Given the description of an element on the screen output the (x, y) to click on. 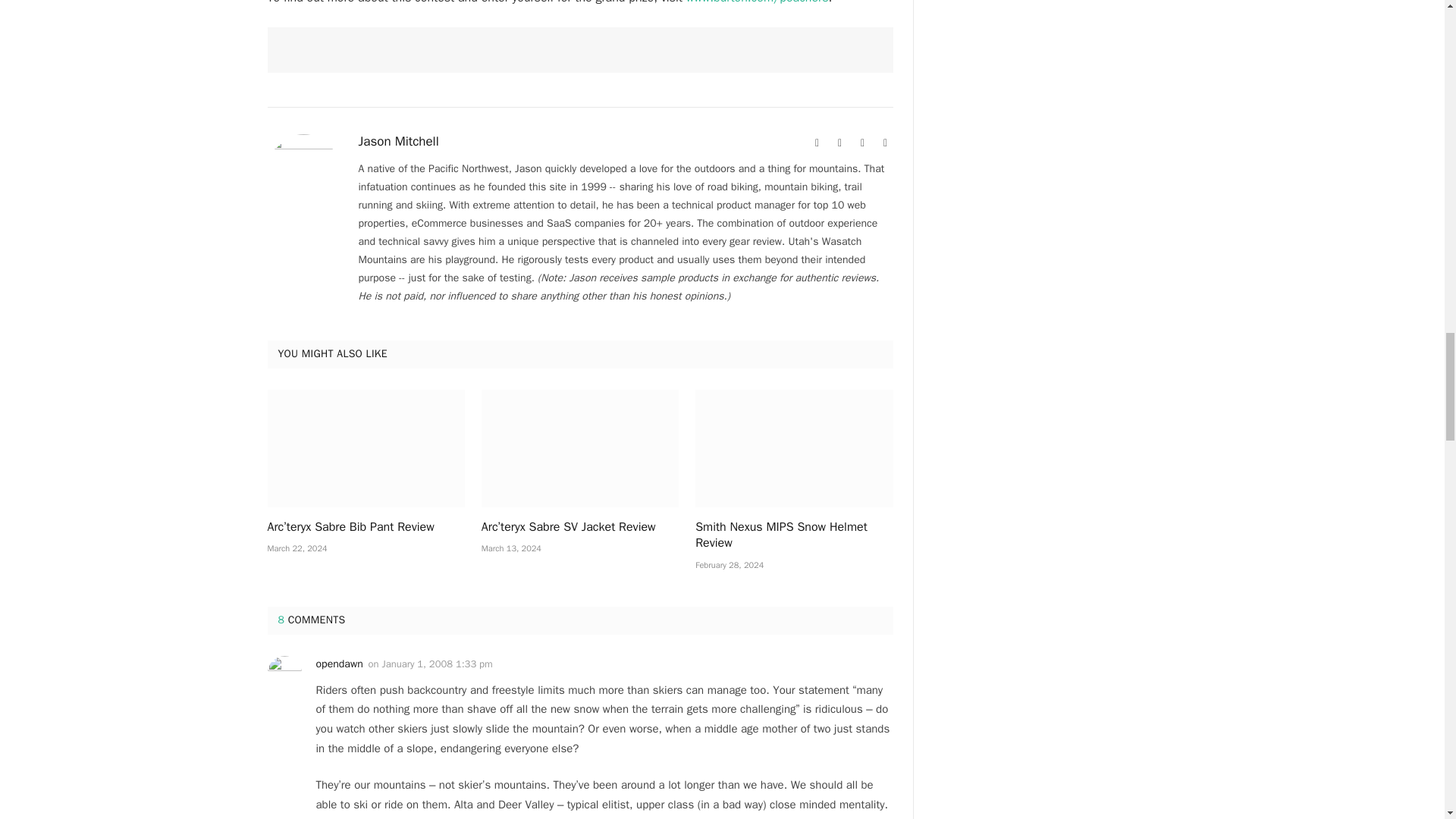
Jason Mitchell (398, 141)
Instagram (863, 142)
Website (817, 142)
Posts by Jason Mitchell (398, 141)
Instagram (863, 142)
Website (817, 142)
